Given the description of an element on the screen output the (x, y) to click on. 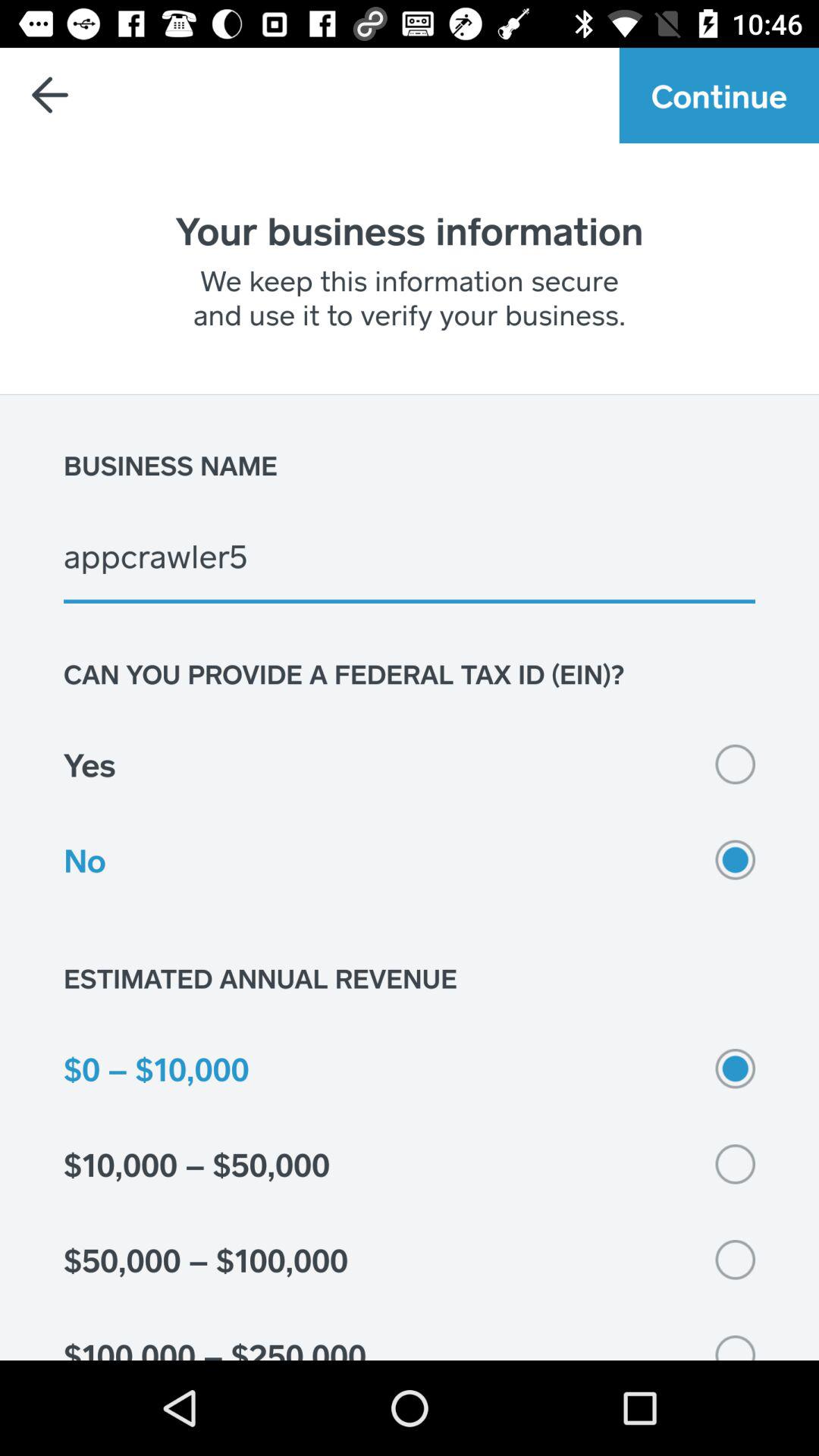
choose the yes icon (409, 764)
